Given the description of an element on the screen output the (x, y) to click on. 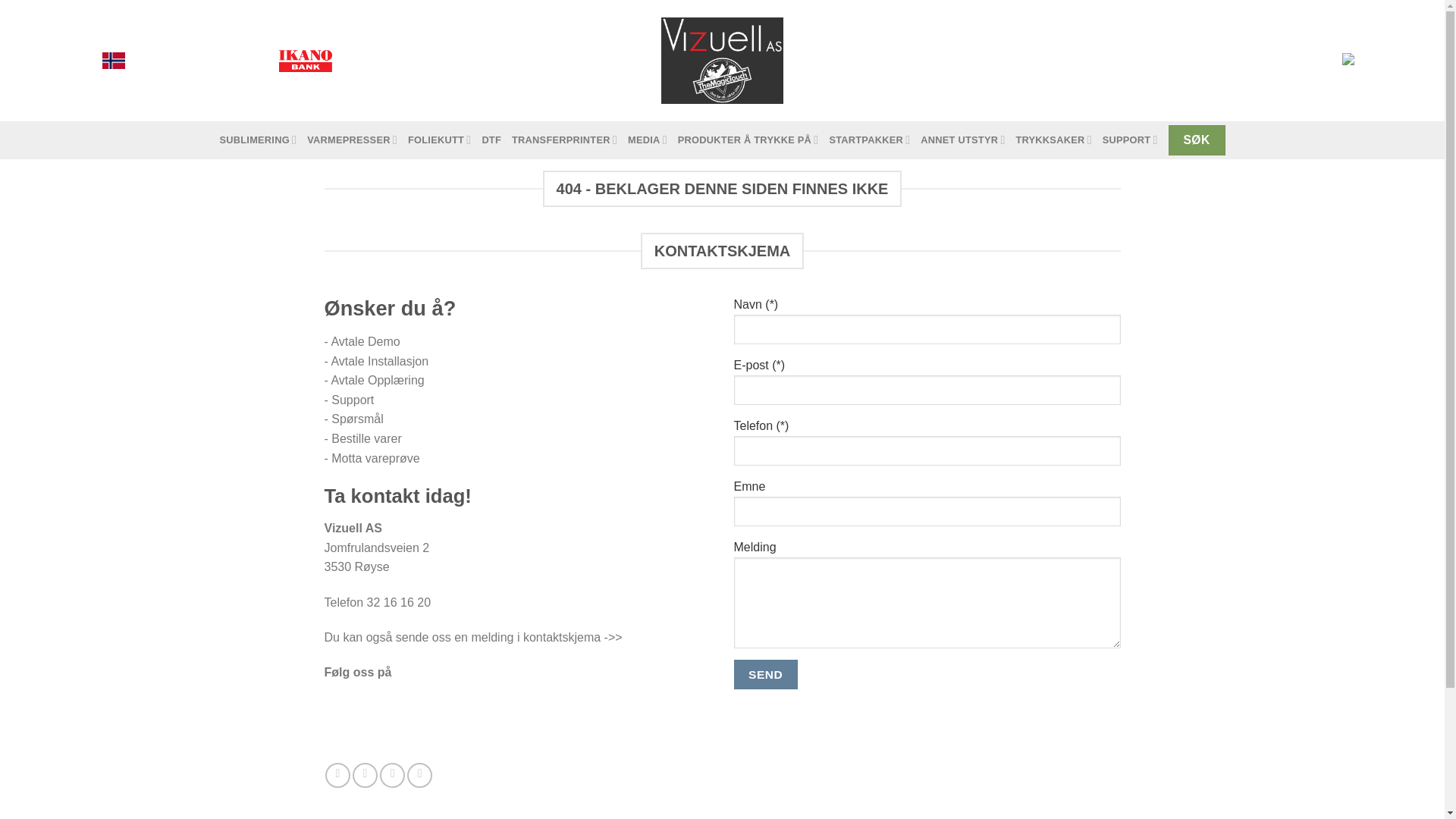
FOR LEASING KLIKK HER (388, 60)
Handlekurv (1269, 60)
Follow on Facebook (337, 774)
Follow on Pinterest (419, 774)
Send us an email (392, 774)
Vizuell AS - DTF, Sublimering, Foliekutt og Transfer (722, 60)
Follow on Twitter (364, 774)
Send (765, 674)
SUBLIMERING (258, 139)
Logg inn (1116, 60)
